Given the description of an element on the screen output the (x, y) to click on. 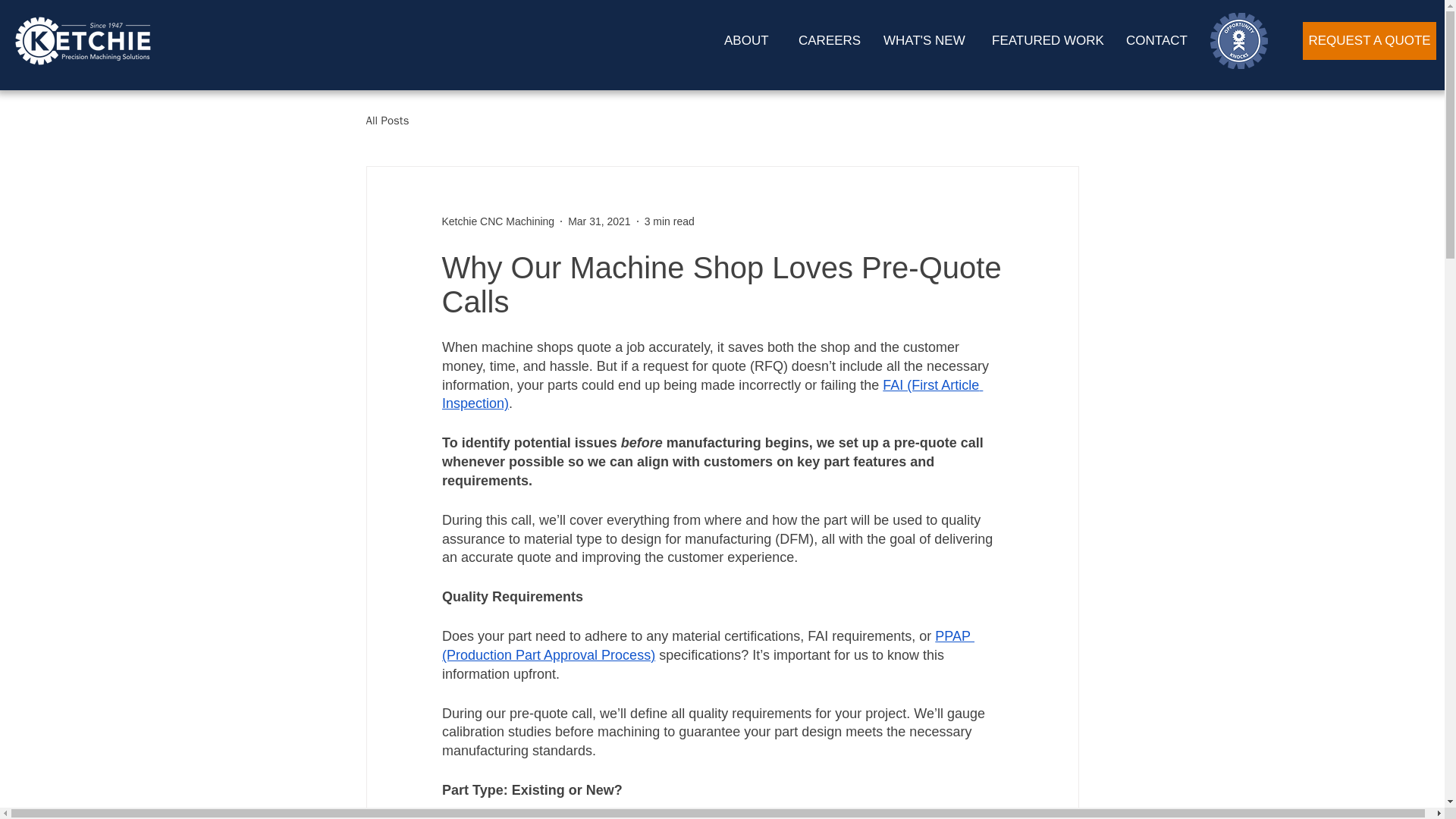
CAREERS (829, 40)
3 min read (669, 221)
ABOUT (750, 40)
CONTACT (1160, 40)
Mar 31, 2021 (598, 221)
REQUEST A QUOTE (1369, 40)
WHAT'S NEW (925, 40)
Ketchie CNC Machining (497, 221)
All Posts (387, 120)
FEATURED WORK (1047, 40)
